Given the description of an element on the screen output the (x, y) to click on. 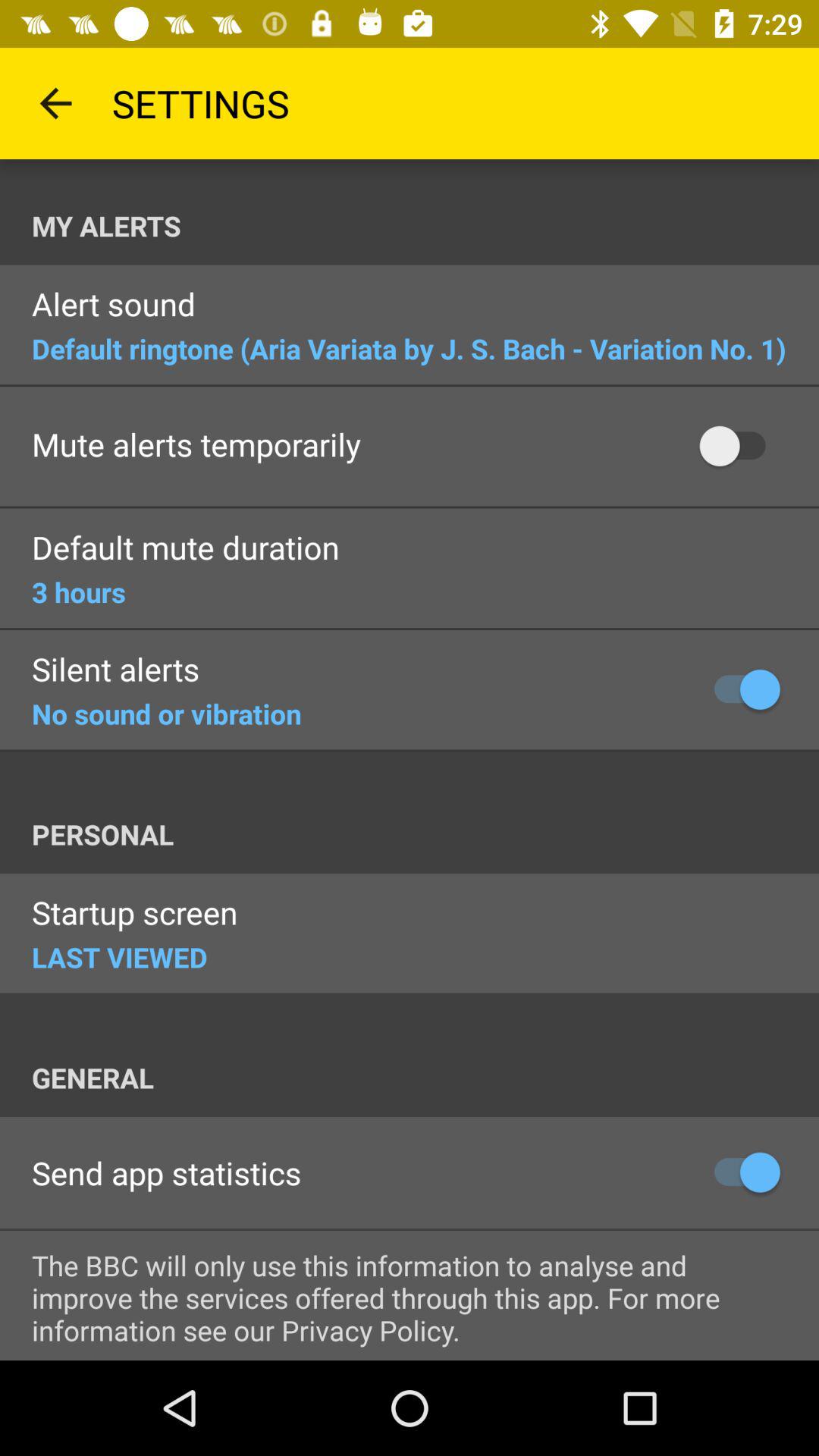
tap the general item (425, 1077)
